Given the description of an element on the screen output the (x, y) to click on. 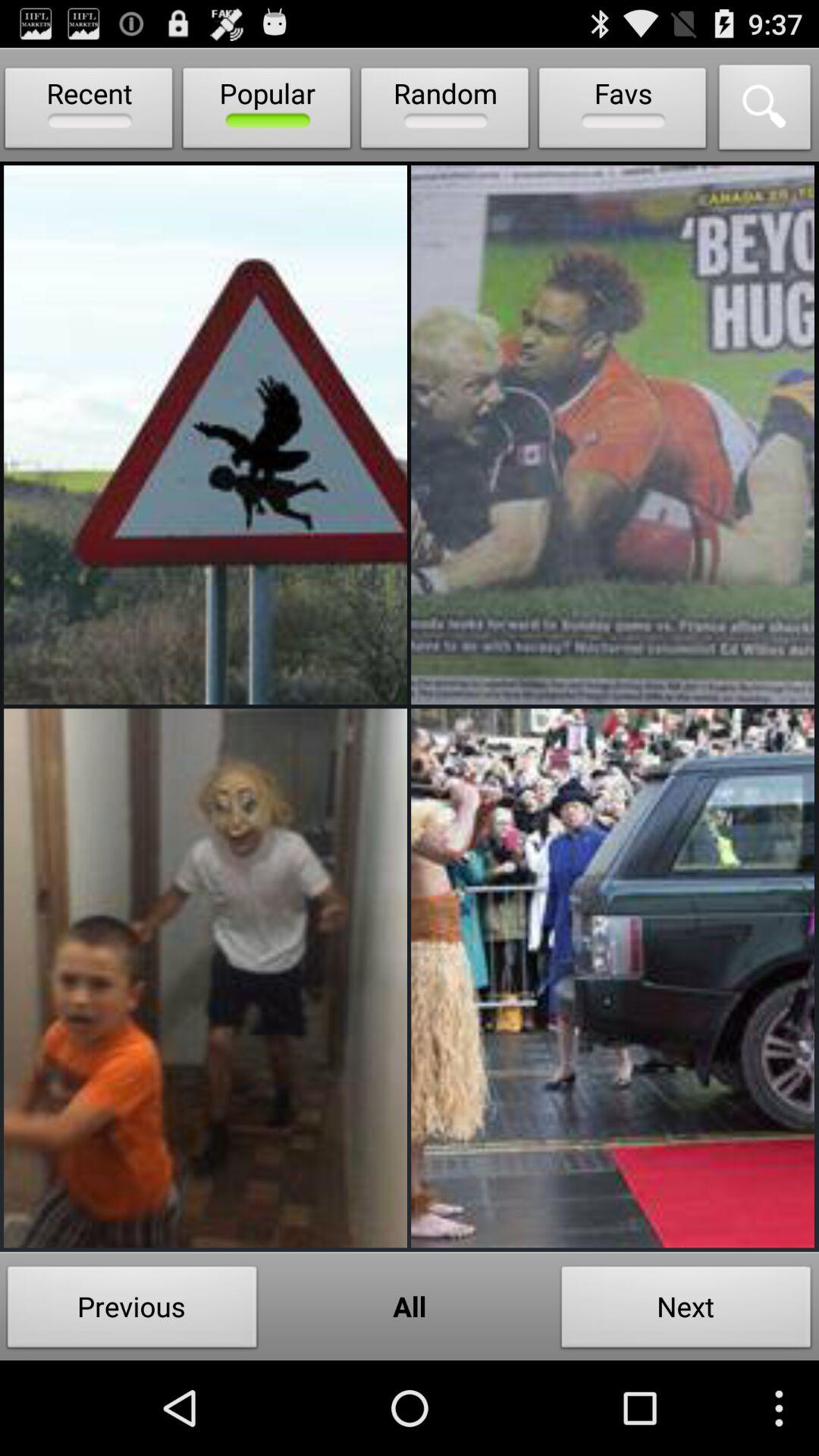
search feature (765, 111)
